Given the description of an element on the screen output the (x, y) to click on. 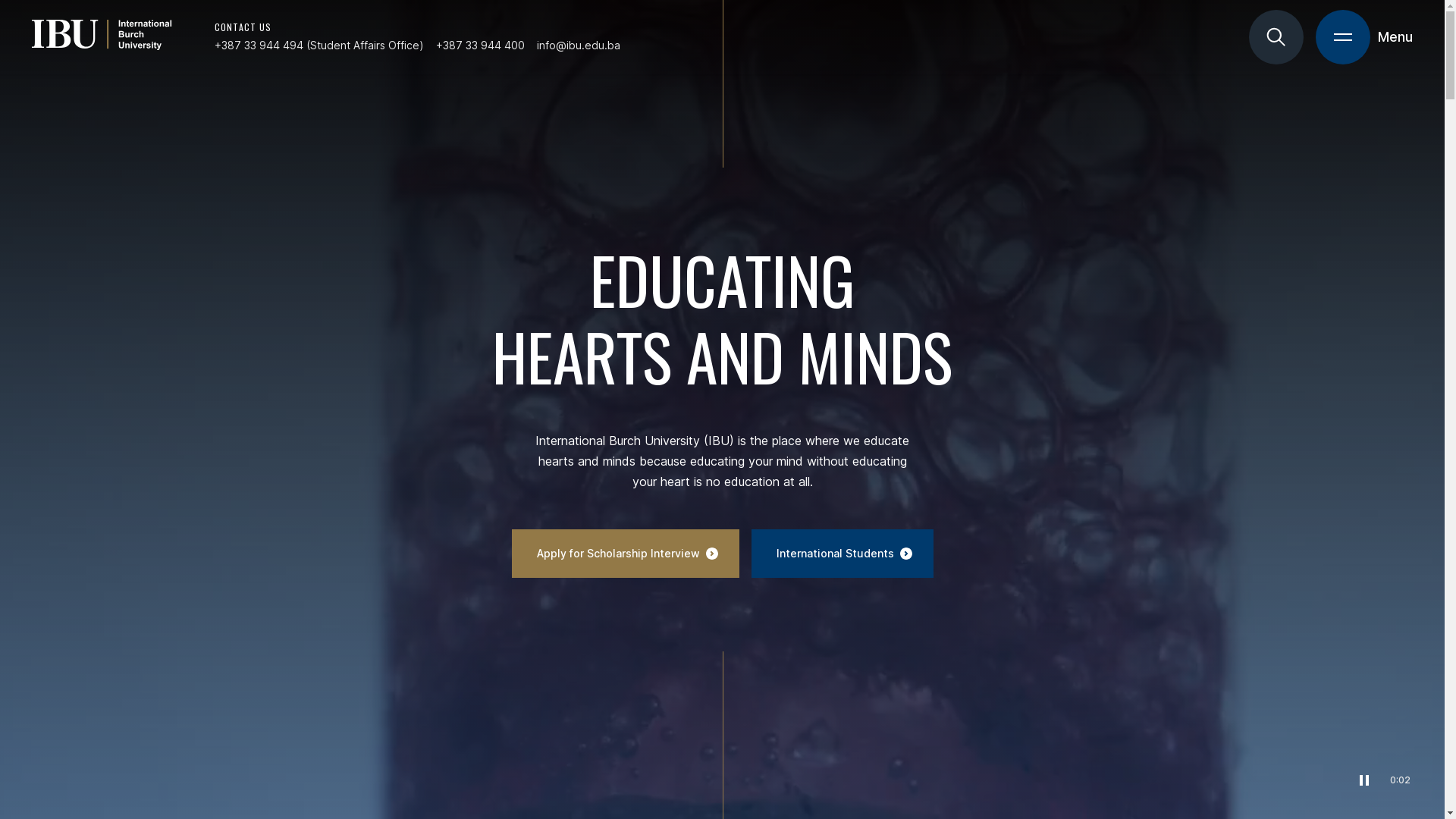
Apply for Scholarship Interview Element type: text (624, 553)
+387 33 944 494 (Student Affairs Office) Element type: text (318, 44)
info@ibu.edu.ba Element type: text (578, 44)
International Students Element type: text (841, 553)
+387 33 944 400 Element type: text (480, 44)
